Given the description of an element on the screen output the (x, y) to click on. 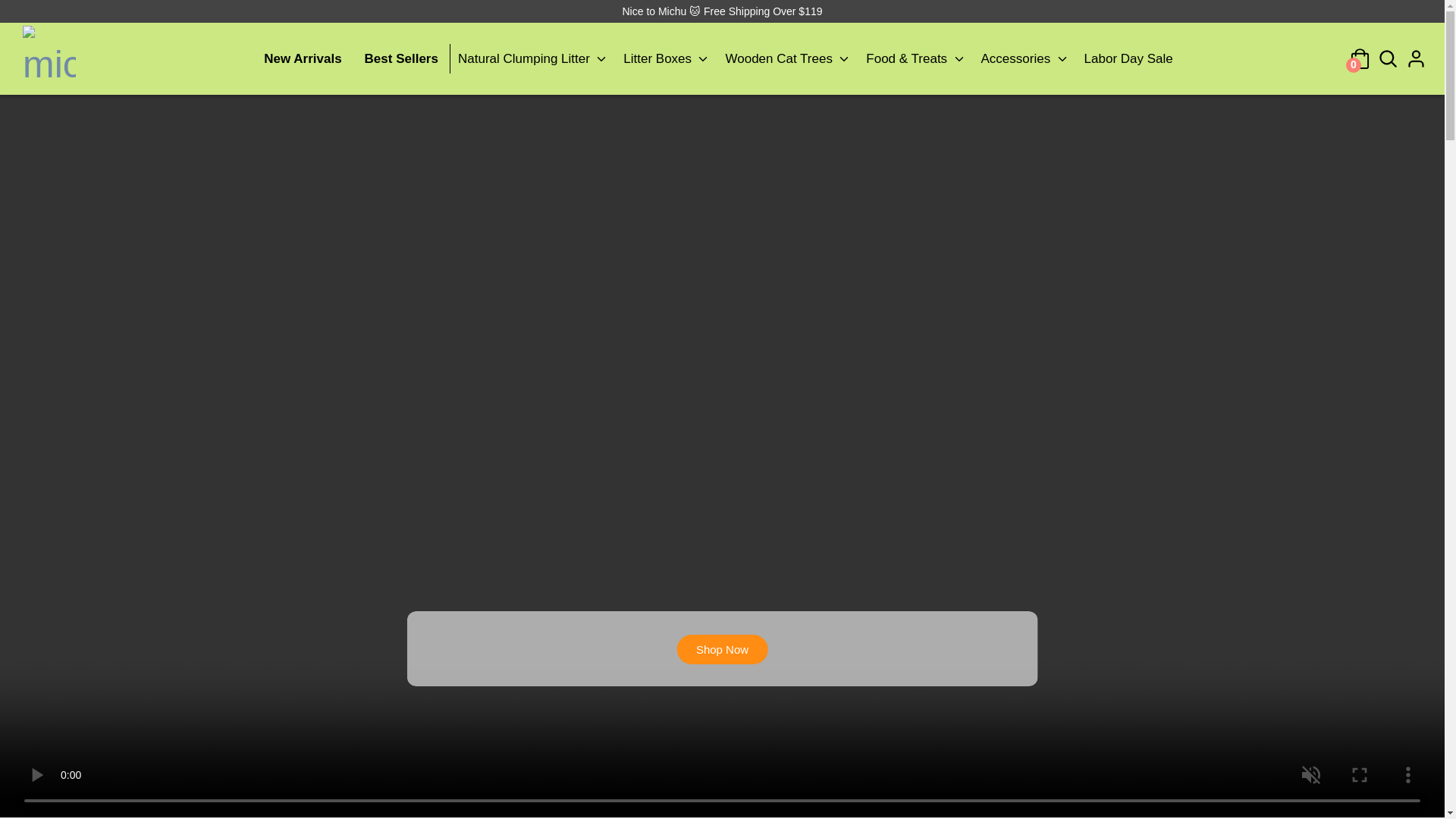
Natural Clumping Litter (532, 59)
New Arrivals (302, 59)
Best Sellers (400, 59)
Accessories (1025, 59)
Wooden Cat Trees (788, 59)
Search (1388, 58)
Litter Boxes (666, 59)
Labor Day Sale (1128, 59)
